Given the description of an element on the screen output the (x, y) to click on. 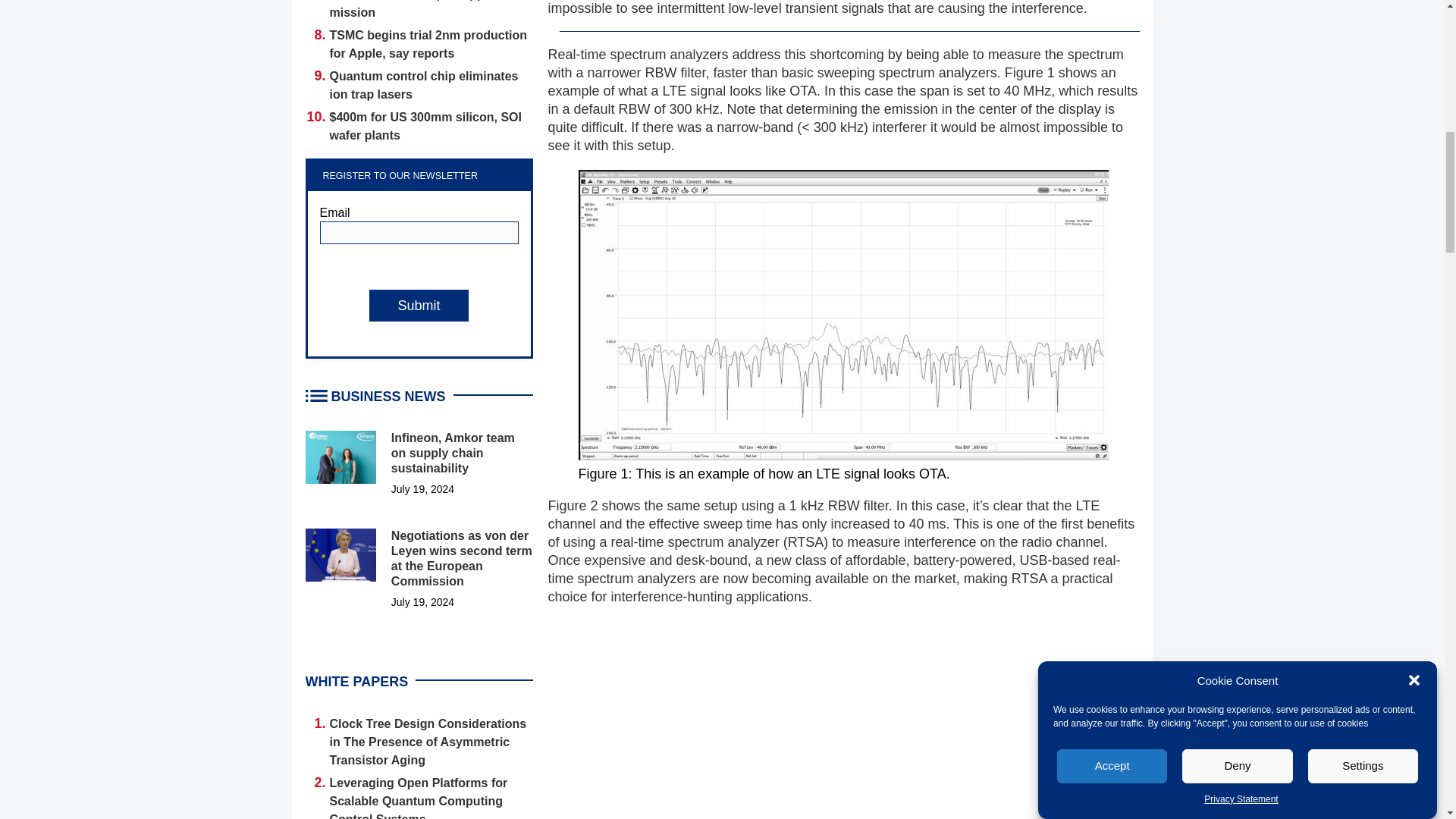
Submit (418, 305)
Privacy Statement (1241, 60)
Settings (1362, 145)
Accept (1112, 204)
Deny (1237, 173)
